Given the description of an element on the screen output the (x, y) to click on. 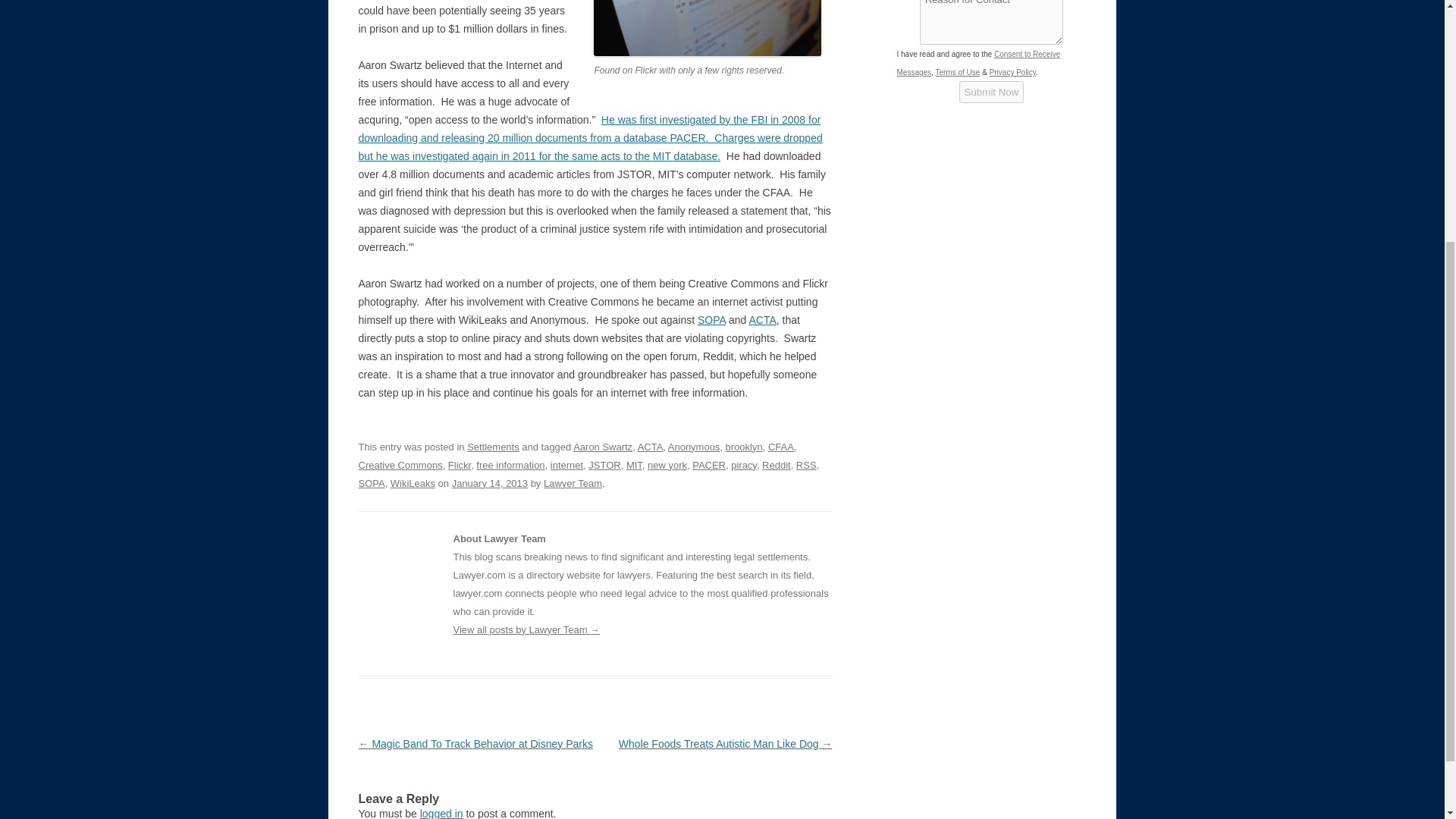
piracy (743, 464)
Reddit (775, 464)
CFAA (780, 446)
SOPA (711, 319)
JSTOR (604, 464)
internet (566, 464)
ACTA (762, 319)
ACTA (762, 319)
Flickr (459, 464)
Anonymous (694, 446)
MIT (634, 464)
RSS (806, 464)
SOPA (371, 482)
brooklyn (743, 446)
SOPA (711, 319)
